Given the description of an element on the screen output the (x, y) to click on. 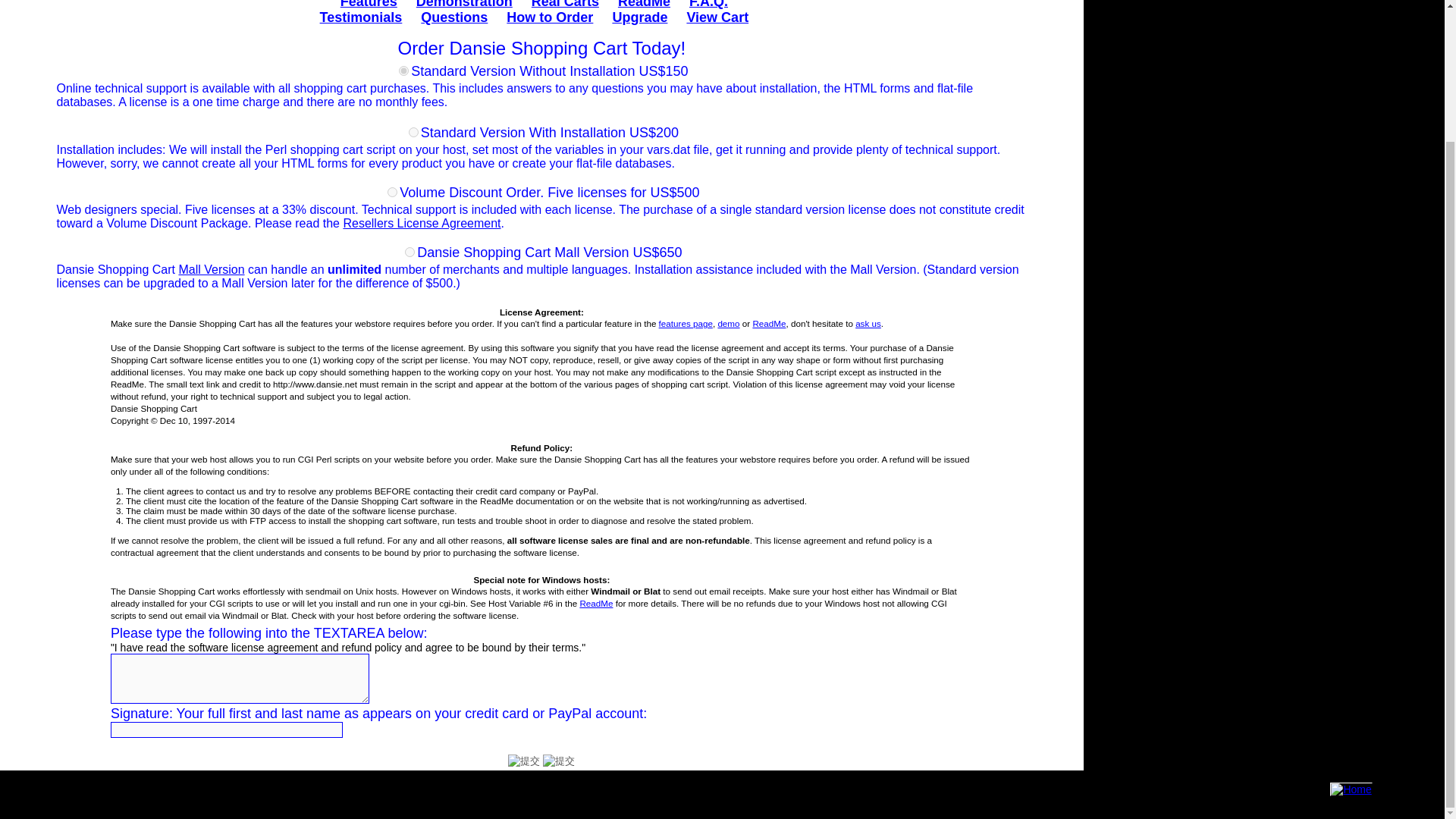
How to Order (549, 17)
Resellers License Agreement (421, 223)
Mall Version (210, 269)
ReadMe (643, 4)
Demonstration (464, 4)
features page (686, 323)
Upgrade (638, 17)
F.A.Q. (708, 4)
Questions (453, 17)
ReadMe (595, 603)
Testimonials (361, 17)
demo (728, 323)
Real Carts (564, 4)
Home (1350, 789)
ask us (868, 323)
